Given the description of an element on the screen output the (x, y) to click on. 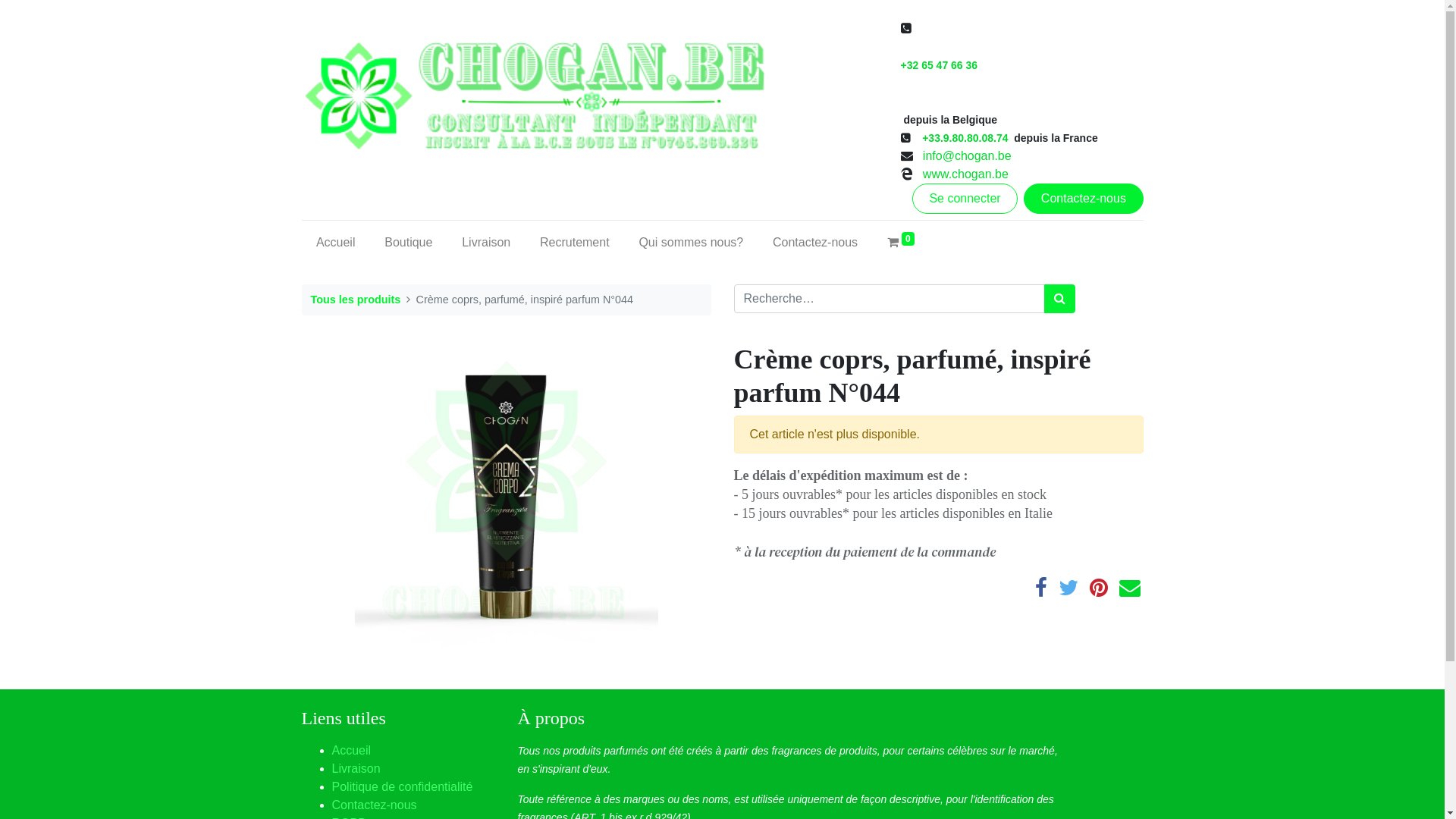
Contactez-nous Element type: text (374, 804)
Chogan.be Element type: hover (585, 95)
  www.chogan.be Element type: text (962, 173)
Livraison Element type: text (486, 242)
info@chogan.be Element type: text (966, 155)
Boutique Element type: text (408, 242)
Contactez-nous Element type: text (815, 242)
+32 65 47 66 36 Element type: text (939, 101)
Se connecter Element type: text (964, 198)
Accueil Element type: text (335, 242)
Recrutement Element type: text (574, 242)
Livraison Element type: text (356, 768)
Tous les produits Element type: text (355, 299)
Contactez-nous Element type: text (1082, 198)
Accueil Element type: text (351, 749)
Rechercher Element type: hover (1058, 298)
+33.9.80.80.08.74 Element type: text (966, 137)
Qui sommes nous? Element type: text (691, 242)
0 Element type: text (900, 242)
